Given the description of an element on the screen output the (x, y) to click on. 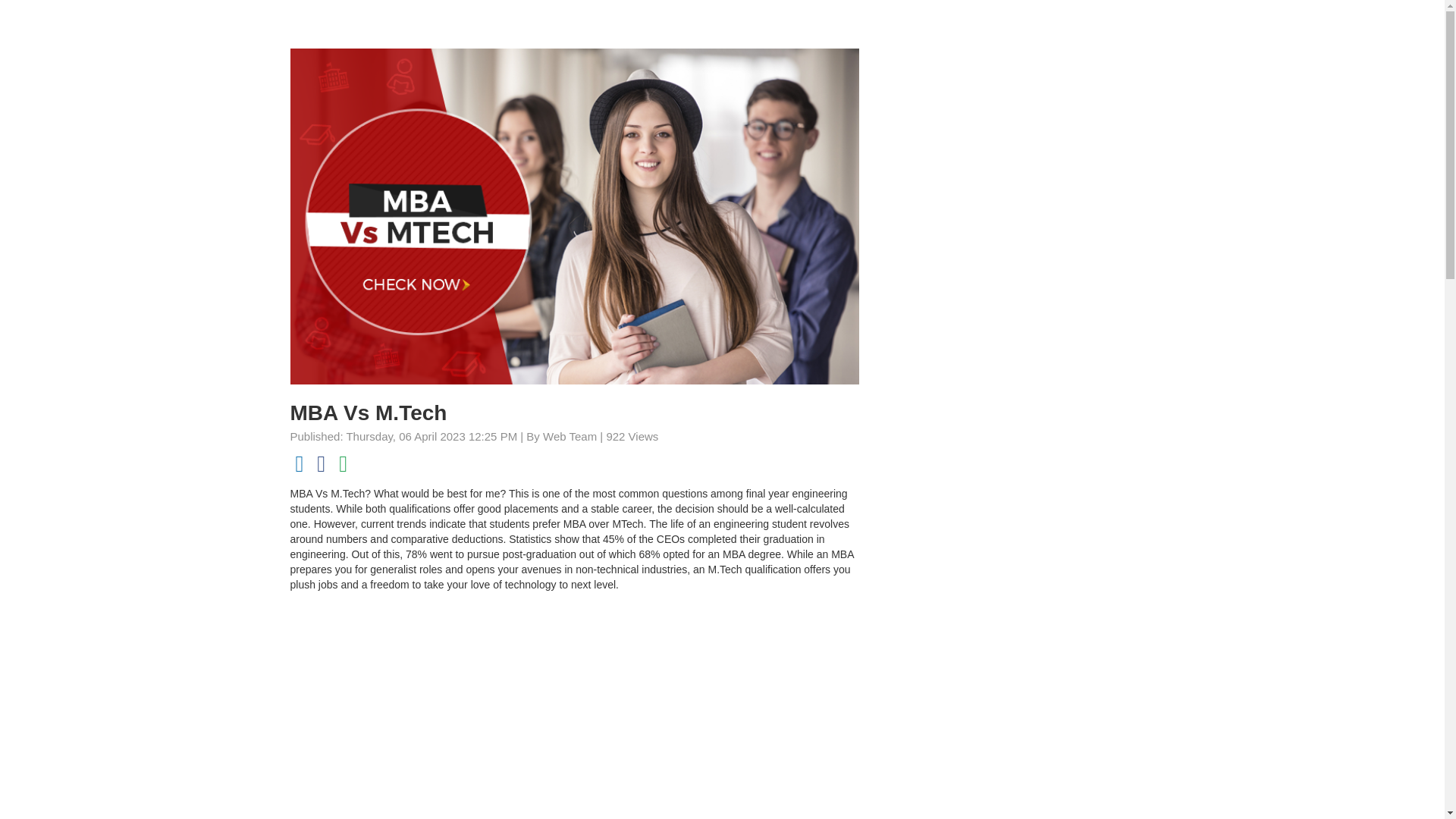
Advertisement (574, 709)
